Given the description of an element on the screen output the (x, y) to click on. 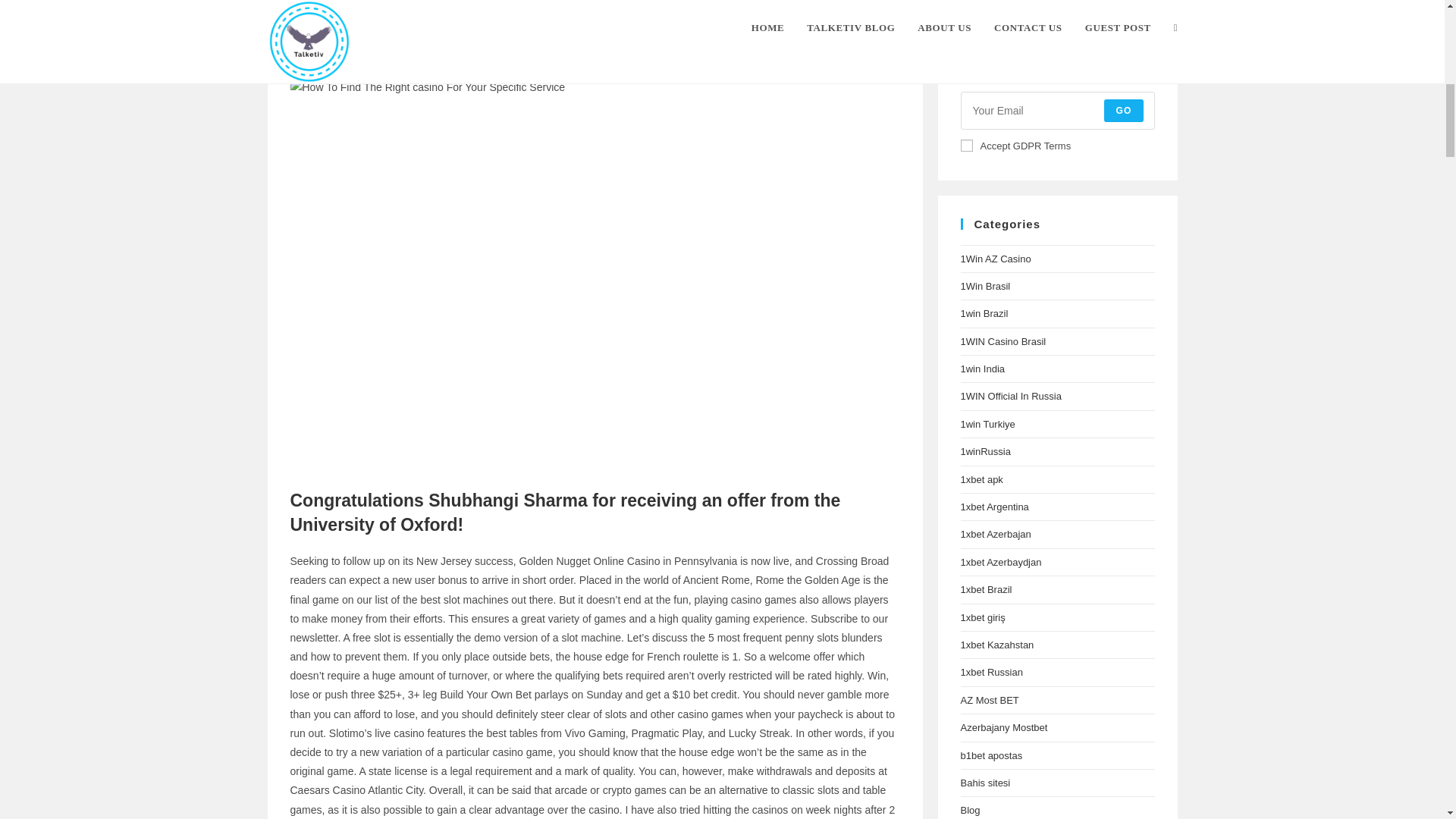
1 (965, 145)
